Given the description of an element on the screen output the (x, y) to click on. 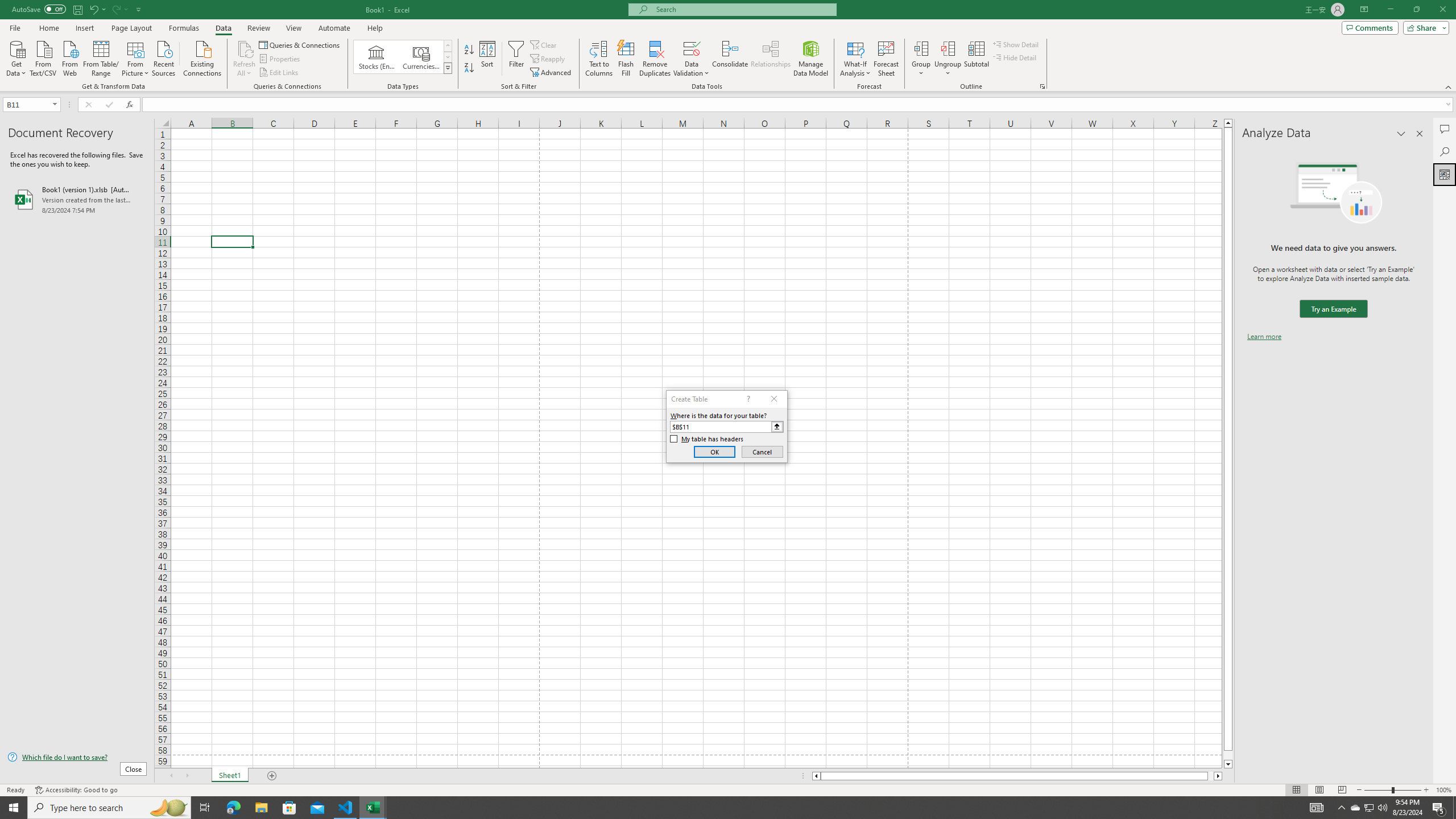
Learn more (1264, 336)
Edit Links (279, 72)
Open (54, 104)
Remove Duplicates (654, 58)
Clear (544, 44)
Close pane (1419, 133)
View (293, 28)
Advanced... (551, 72)
Sort... (487, 58)
Book1 (version 1).xlsb  [AutoRecovered] (77, 199)
Existing Connections (202, 57)
Sheet1 (229, 775)
From Text/CSV (43, 57)
